Given the description of an element on the screen output the (x, y) to click on. 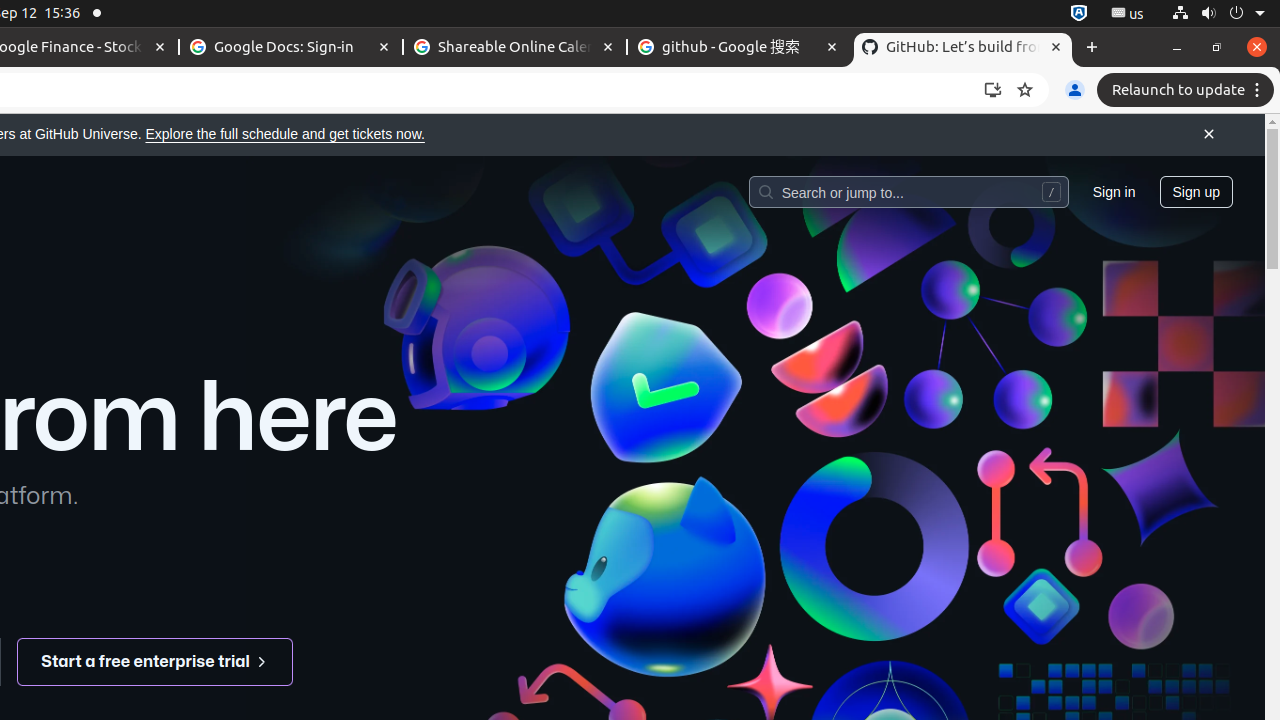
:1.21/StatusNotifierItem Element type: menu (1127, 13)
github - Google 搜索 - Memory usage - 112 MB Element type: page-tab (739, 47)
Sign up Element type: link (1196, 191)
System Element type: menu (1218, 13)
Relaunch to update Element type: push-button (1188, 90)
